Given the description of an element on the screen output the (x, y) to click on. 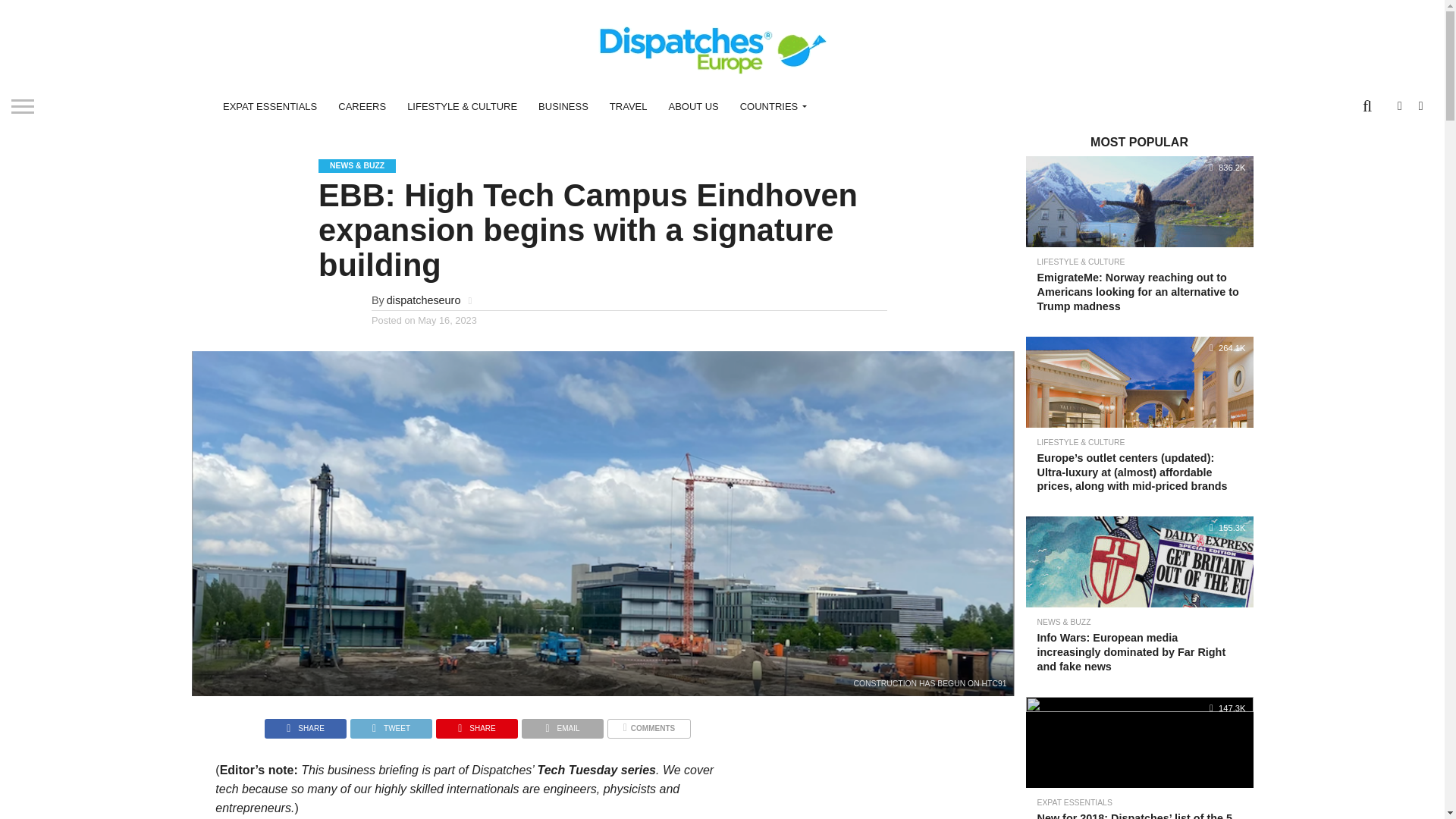
TRAVEL (628, 105)
Share on Facebook (305, 724)
COUNTRIES (769, 105)
EXPAT ESSENTIALS (269, 105)
CAREERS (361, 105)
ABOUT US (693, 105)
Tweet This Post (390, 724)
BUSINESS (562, 105)
Pin This Post (476, 724)
